Given the description of an element on the screen output the (x, y) to click on. 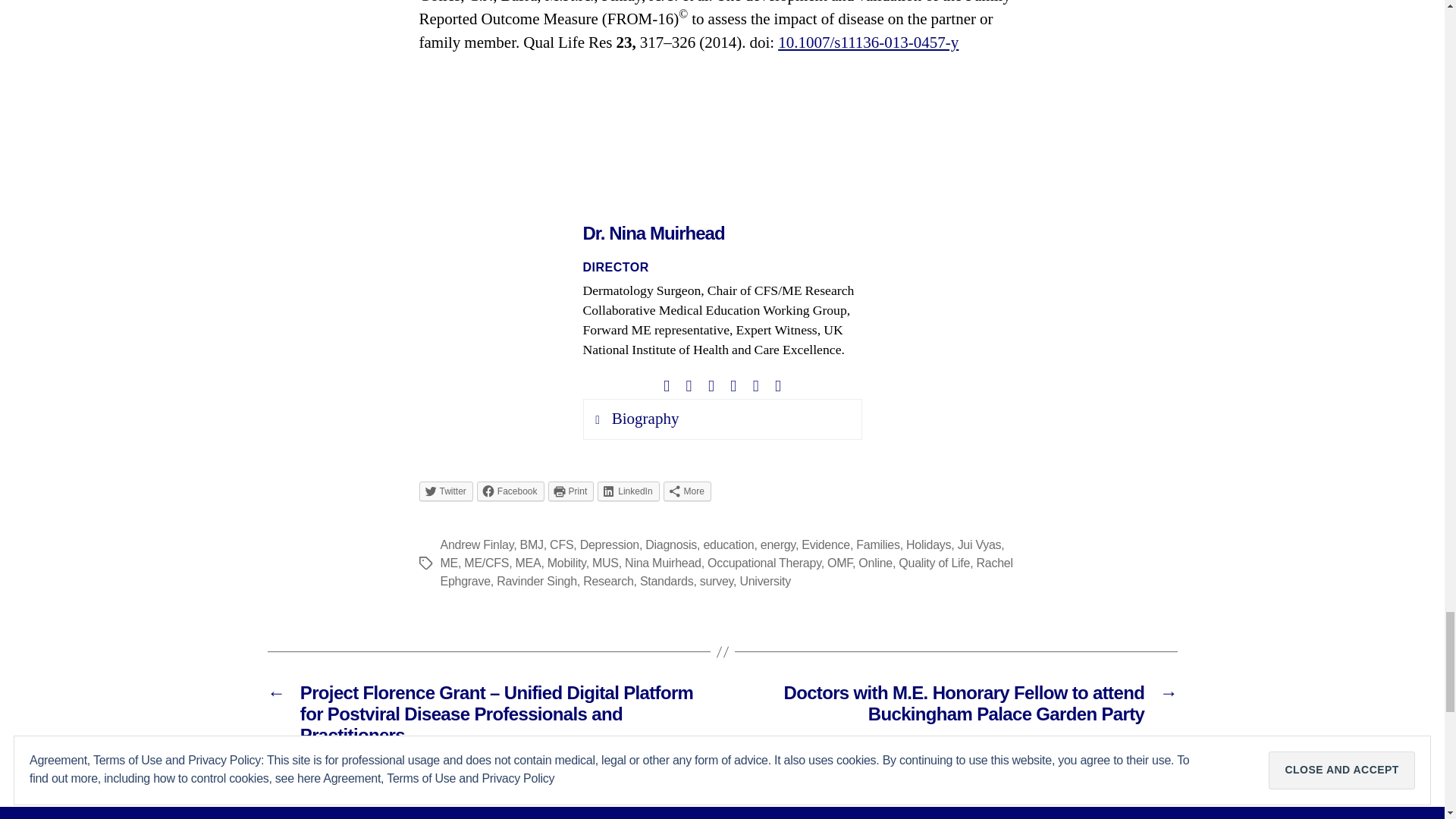
Click to share on LinkedIn (627, 491)
Click to share on Twitter (445, 491)
Click to print (571, 491)
Click to share on Facebook (510, 491)
